Given the description of an element on the screen output the (x, y) to click on. 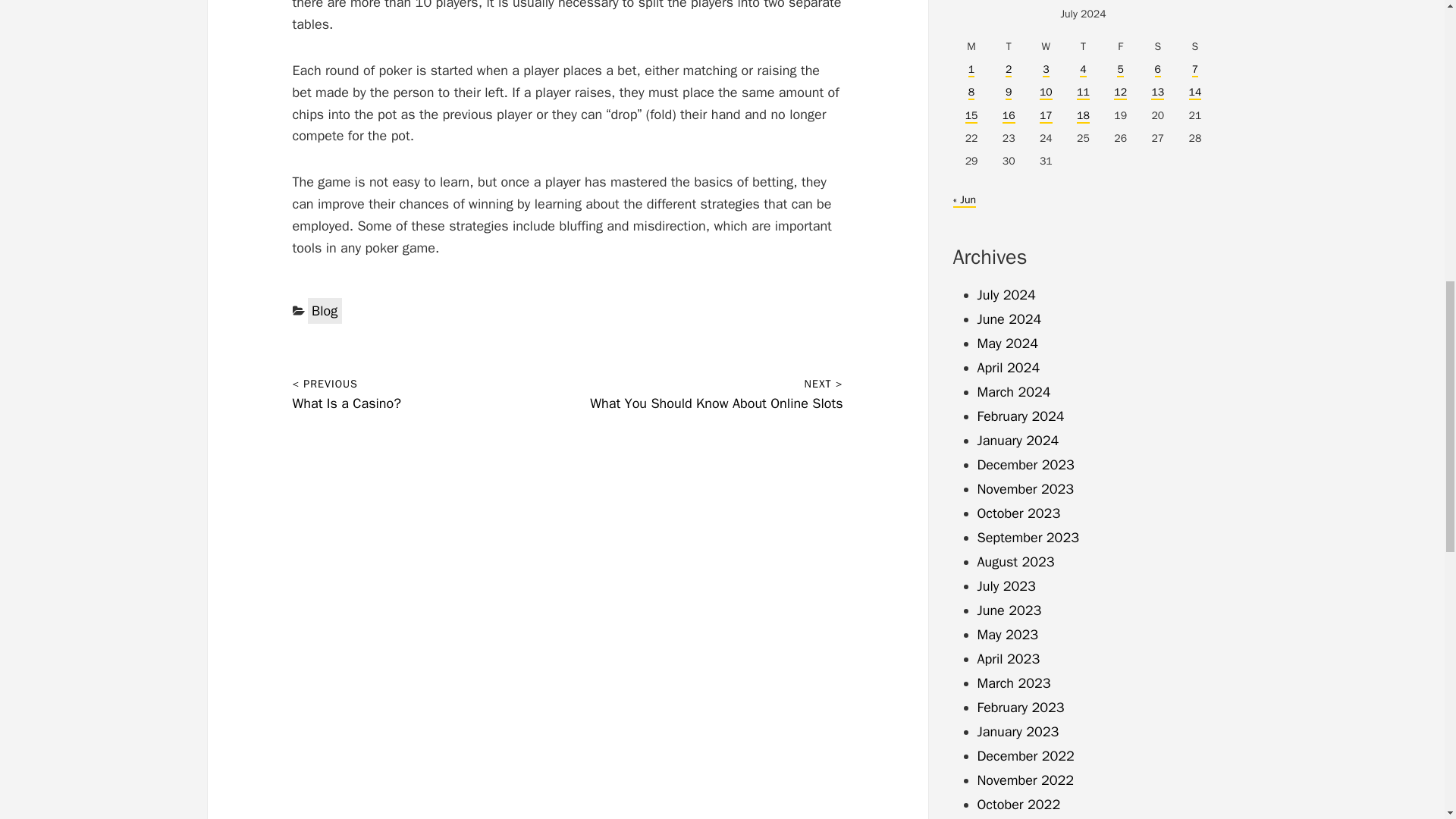
Wednesday (1045, 46)
11 (1083, 92)
Tuesday (1008, 46)
Sunday (1194, 46)
17 (1045, 115)
16 (1008, 115)
Monday (971, 46)
Blog (324, 310)
14 (1195, 92)
Thursday (1083, 46)
15 (971, 115)
13 (1157, 92)
Saturday (1157, 46)
12 (1119, 92)
10 (1045, 92)
